Given the description of an element on the screen output the (x, y) to click on. 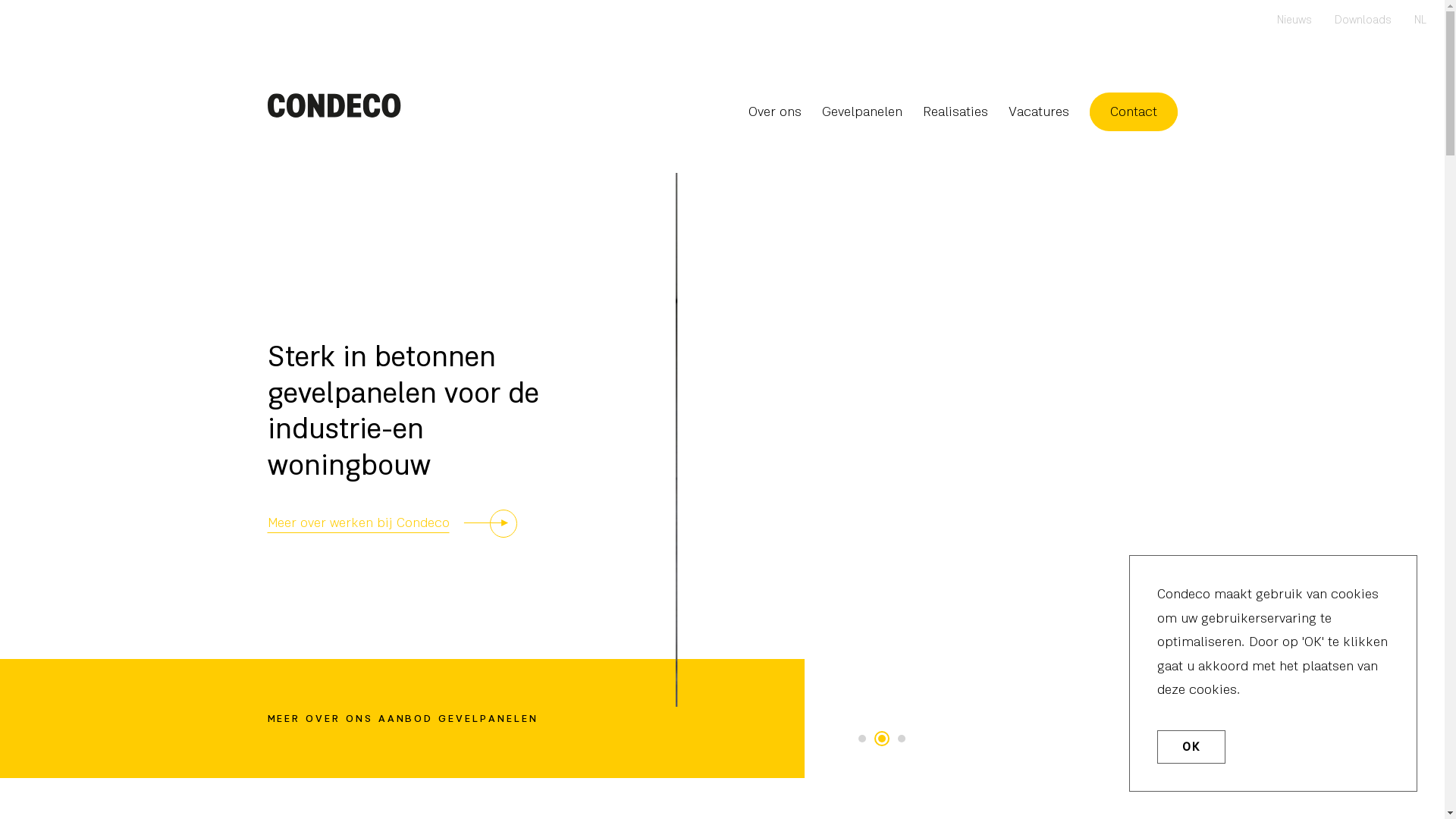
OK Element type: text (1191, 746)
View slide 1 Element type: text (862, 738)
View slide 3 Element type: text (901, 738)
Gevelpanelen Element type: text (862, 112)
Realisaties Element type: text (954, 112)
Downloads Element type: text (1362, 20)
Contact Element type: text (1132, 112)
Meer over werken bij Condeco Element type: text (391, 523)
Nieuws Element type: text (1294, 20)
Vacatures Element type: text (1038, 112)
Over ons Element type: text (773, 112)
NL Element type: text (1420, 20)
View slide 2 Element type: text (881, 738)
MEER OVER ONS AANBOD GEVELPANELEN Element type: text (401, 718)
